Given the description of an element on the screen output the (x, y) to click on. 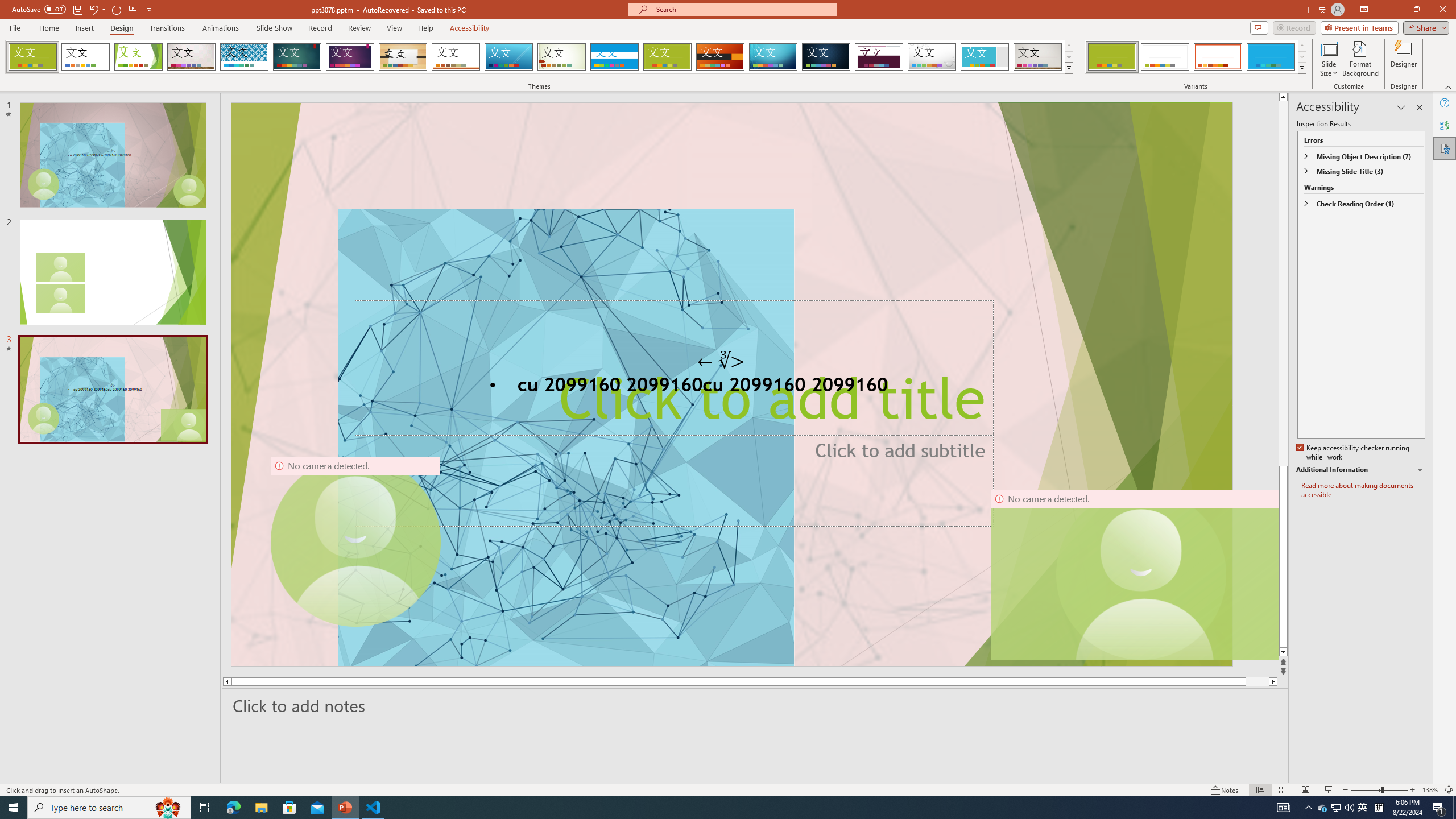
Office Theme (85, 56)
Gallery (1037, 56)
Organic (403, 56)
An abstract genetic concept (731, 384)
Basis Variant 3 (1217, 56)
Basis Variant 4 (1270, 56)
